Given the description of an element on the screen output the (x, y) to click on. 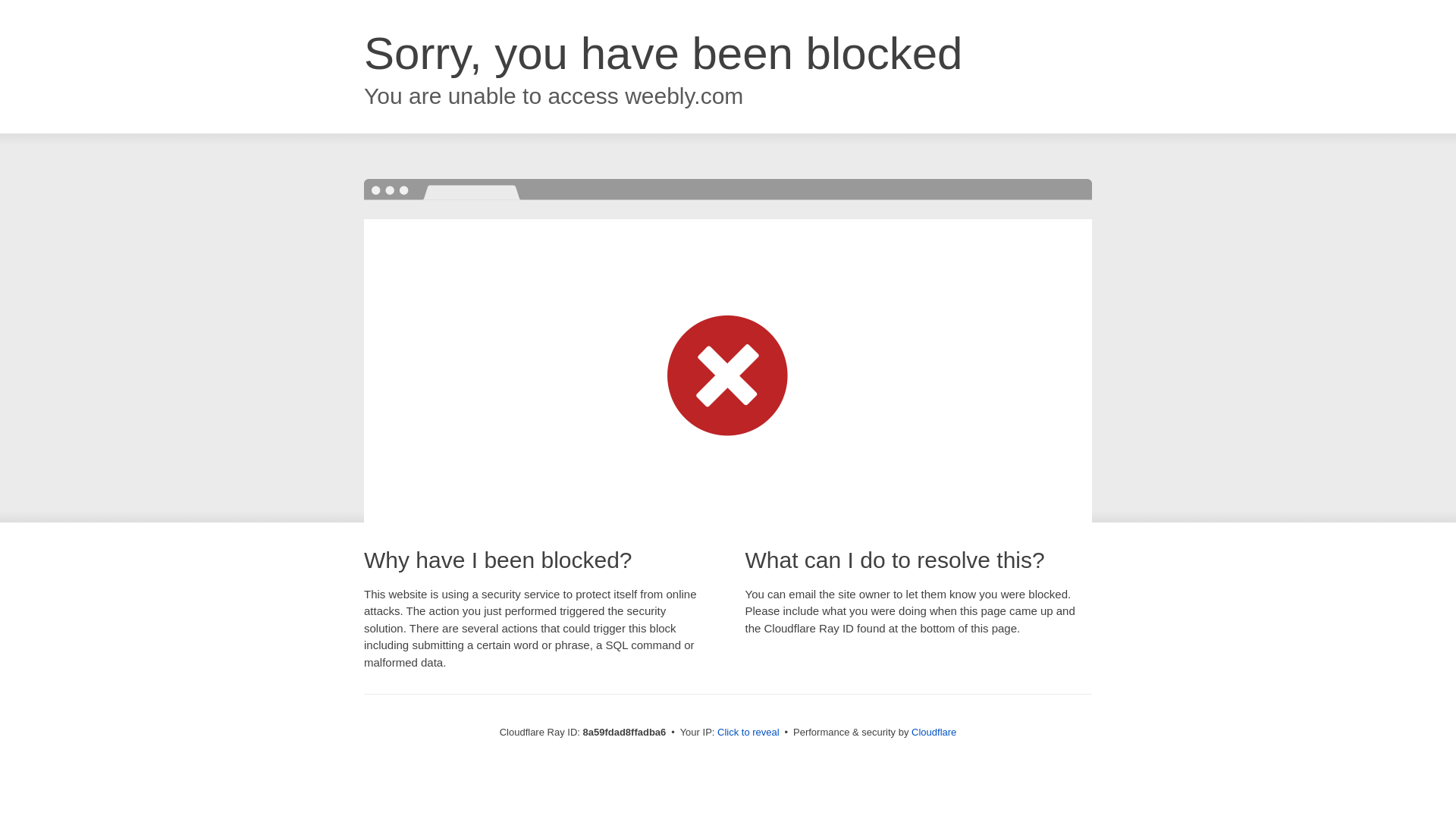
Click to reveal (747, 732)
Cloudflare (933, 731)
